Given the description of an element on the screen output the (x, y) to click on. 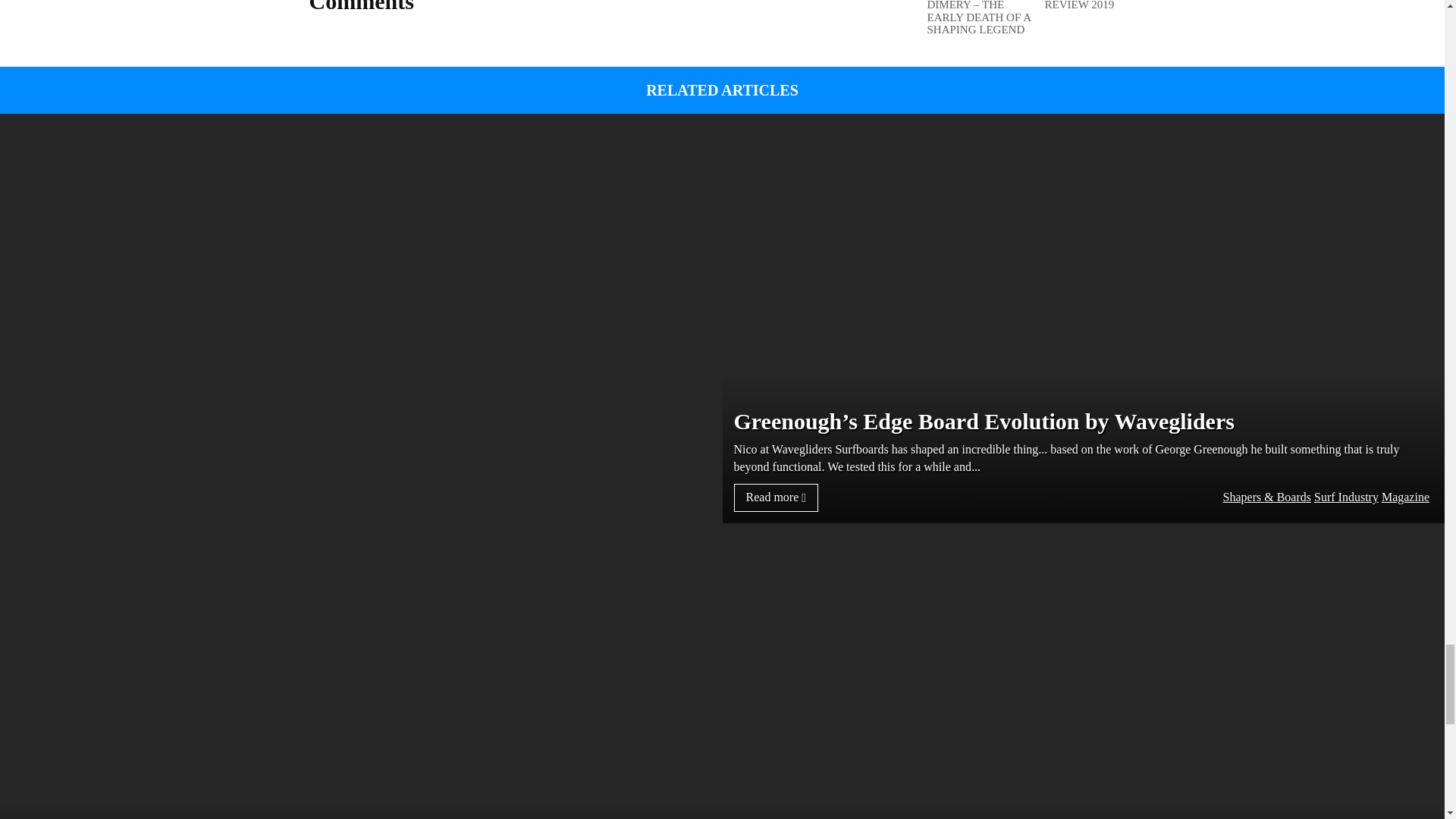
Comments (360, 6)
